Given the description of an element on the screen output the (x, y) to click on. 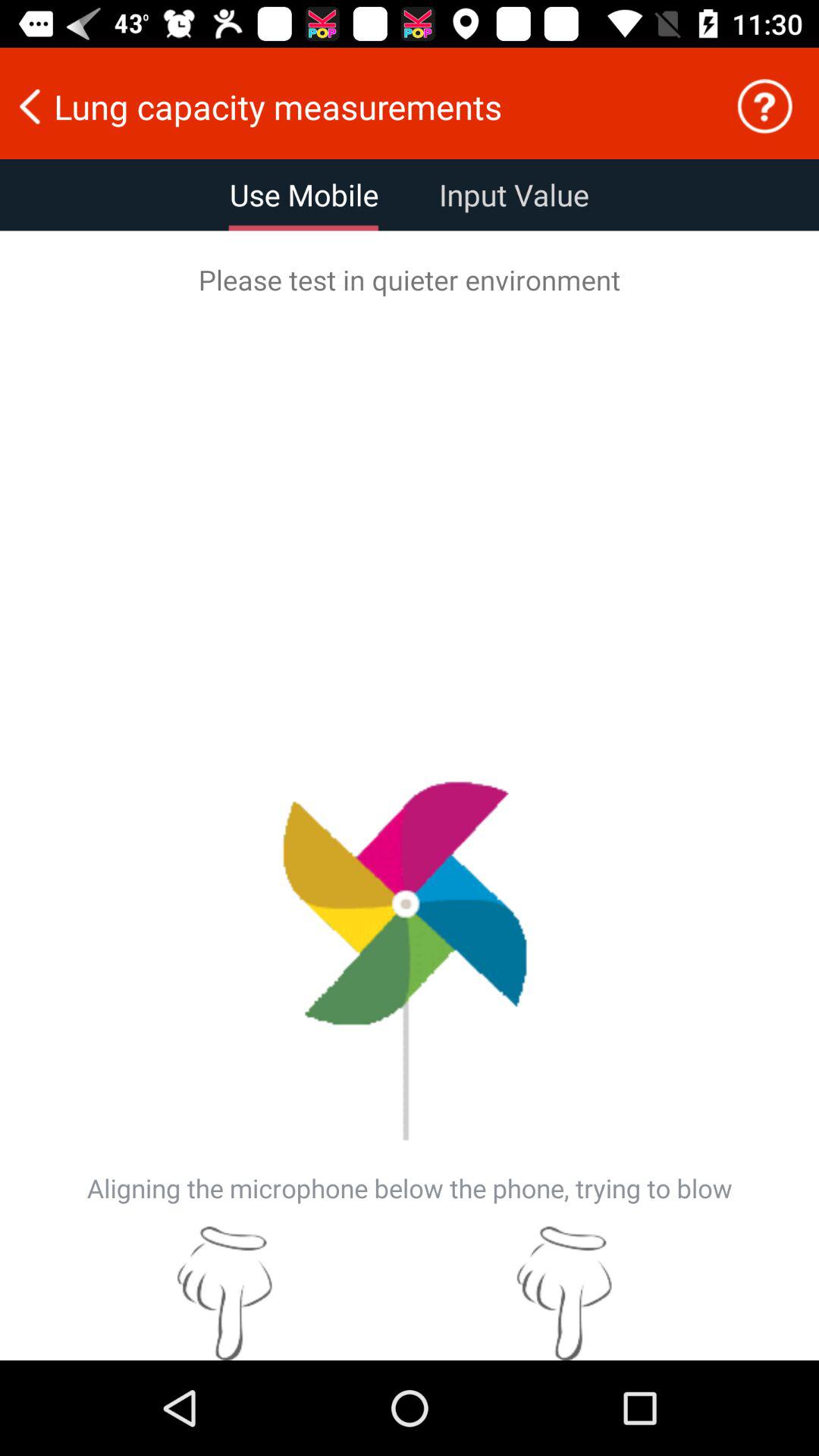
launch lung capacity measurements item (357, 106)
